Given the description of an element on the screen output the (x, y) to click on. 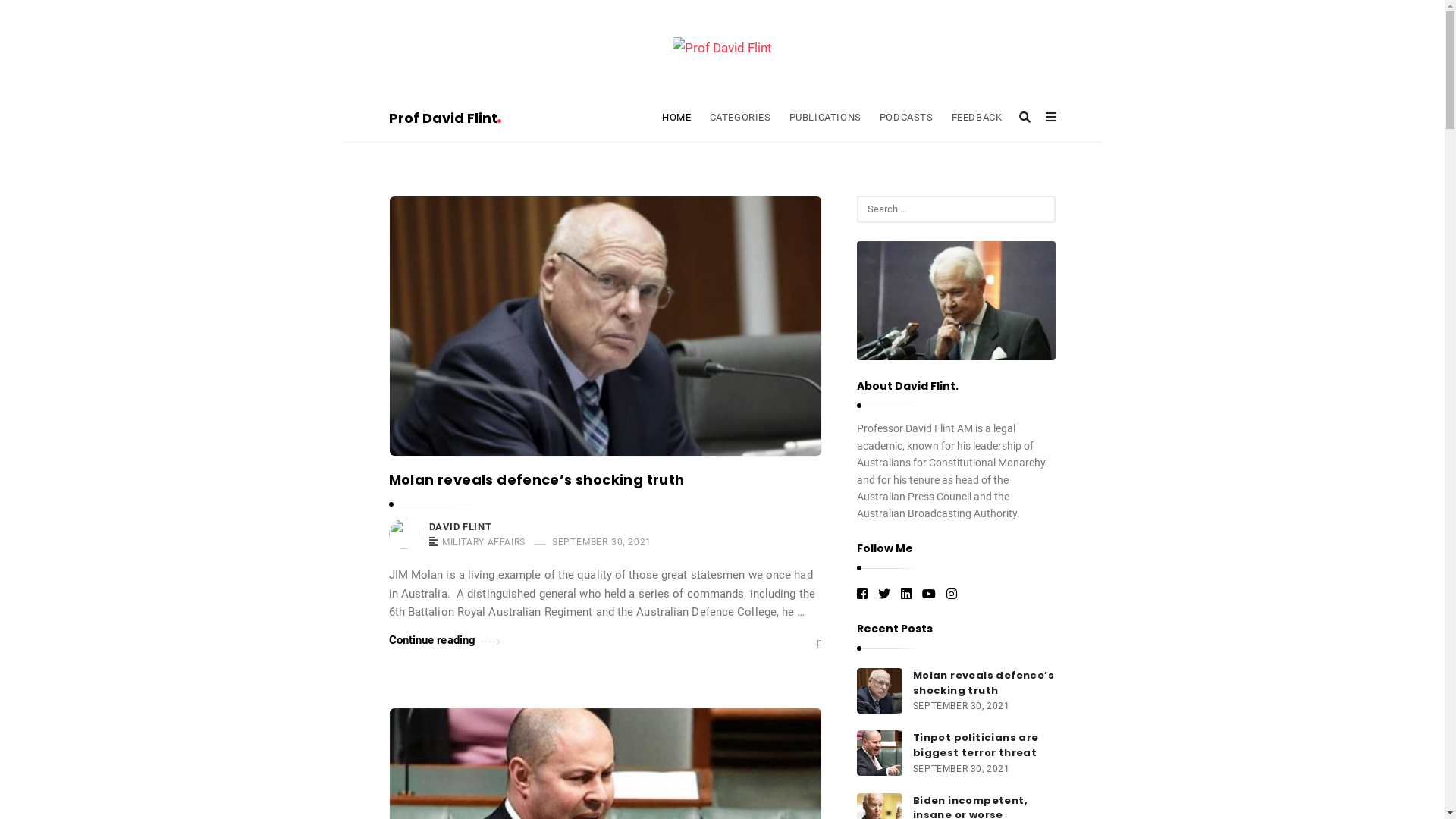
Continue reading Element type: text (444, 639)
DAVID FLINT Element type: text (460, 526)
Prof David Flint Element type: text (444, 117)
Search Element type: text (32, 13)
Youtube Element type: hover (928, 594)
Linked In Element type: hover (905, 594)
FEEDBACK Element type: text (976, 117)
CATEGORIES Element type: text (740, 117)
PODCASTS Element type: text (906, 117)
Twitter Element type: hover (884, 594)
MILITARY AFFAIRS Element type: text (483, 542)
Tinpot politicians are biggest terror threat Element type: text (975, 744)
PUBLICATIONS Element type: text (825, 117)
HOME Element type: text (675, 117)
Tinpot politicians are biggest terror threat Element type: hover (879, 752)
SEPTEMBER 30, 2021 Element type: text (597, 541)
Prof David Flint Element type: hover (721, 47)
Instagram Element type: hover (951, 594)
Facebook Element type: hover (861, 594)
